Given the description of an element on the screen output the (x, y) to click on. 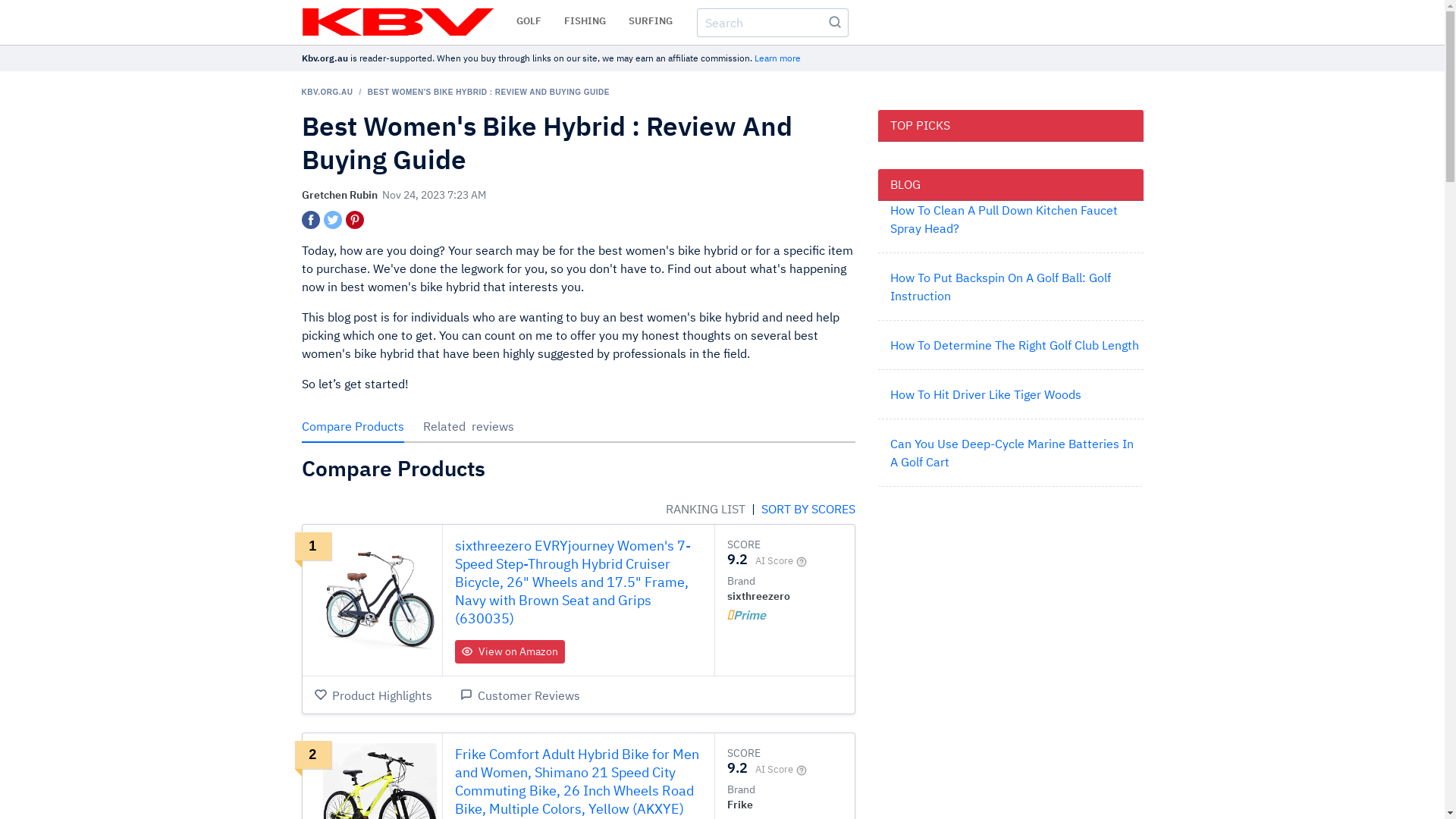
GOLF Element type: text (527, 20)
Gretchen Rubin Element type: text (339, 194)
How To Hit Driver Like Tiger Woods Element type: text (985, 393)
Related  reviews Element type: text (468, 426)
Learn more Element type: text (776, 57)
How To Determine The Right Golf Club Length Element type: text (1014, 344)
SORT BY SCORES Element type: text (806, 508)
logo Element type: hover (396, 21)
Compare Products Element type: text (352, 426)
sixthreezero Element type: text (758, 595)
SURFING Element type: text (649, 20)
BEST WOMEN'S BIKE HYBRID : REVIEW AND BUYING GUIDE Element type: text (488, 91)
How To Put Backspin On A Golf Ball: Golf Instruction Element type: text (1000, 286)
View on Amazon Element type: text (509, 651)
How To Clean A Pull Down Kitchen Faucet Spray Head? Element type: text (1003, 218)
Customer Reviews Element type: text (519, 695)
Product Highlights Element type: text (372, 695)
FISHING Element type: text (584, 20)
Frike Element type: text (740, 804)
KBV.ORG.AU Element type: text (327, 91)
Can You Use Deep-Cycle Marine Batteries In A Golf Cart Element type: text (1011, 452)
RANKING LIST Element type: text (706, 508)
